Given the description of an element on the screen output the (x, y) to click on. 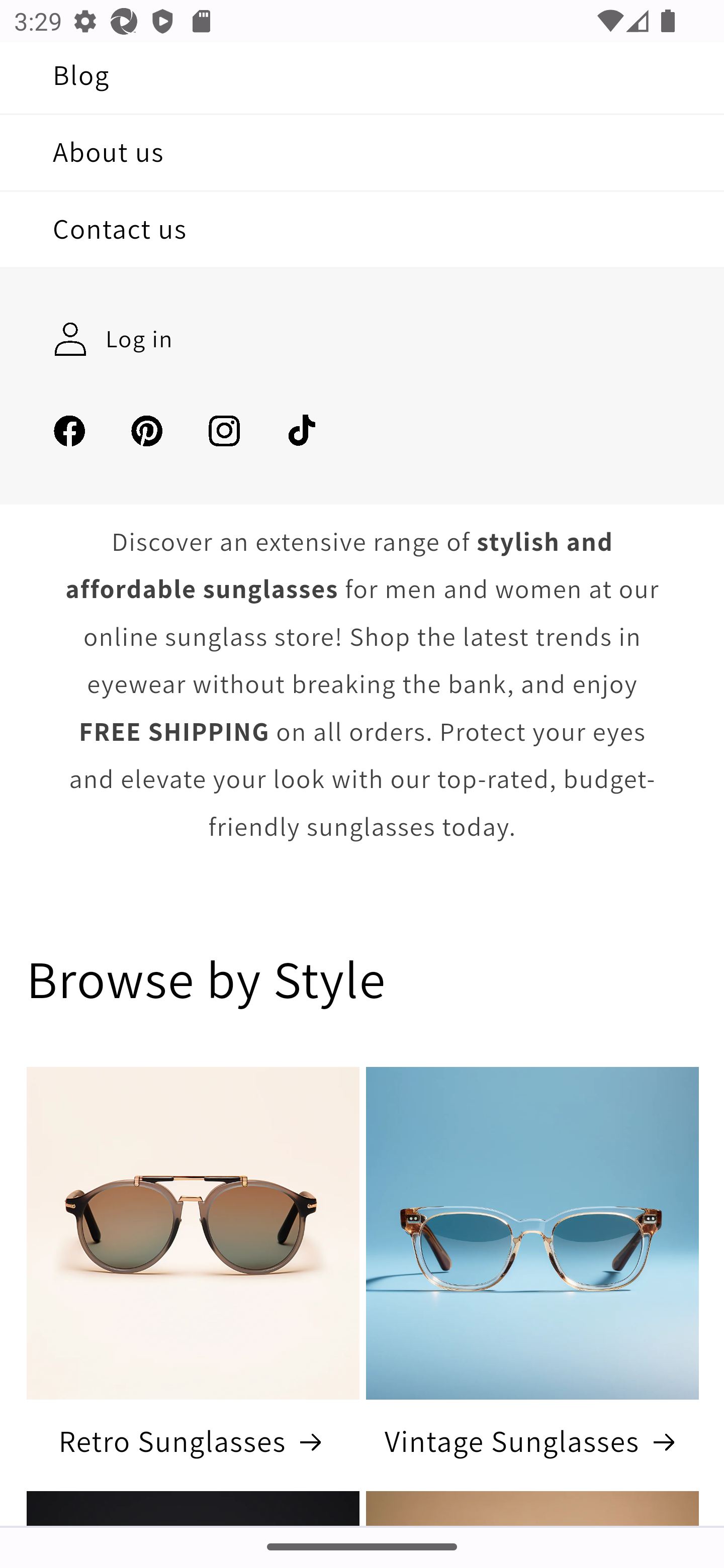
Retro Sunglasses Retro Sunglasses Retro Sunglasses (192, 1442)
